Given the description of an element on the screen output the (x, y) to click on. 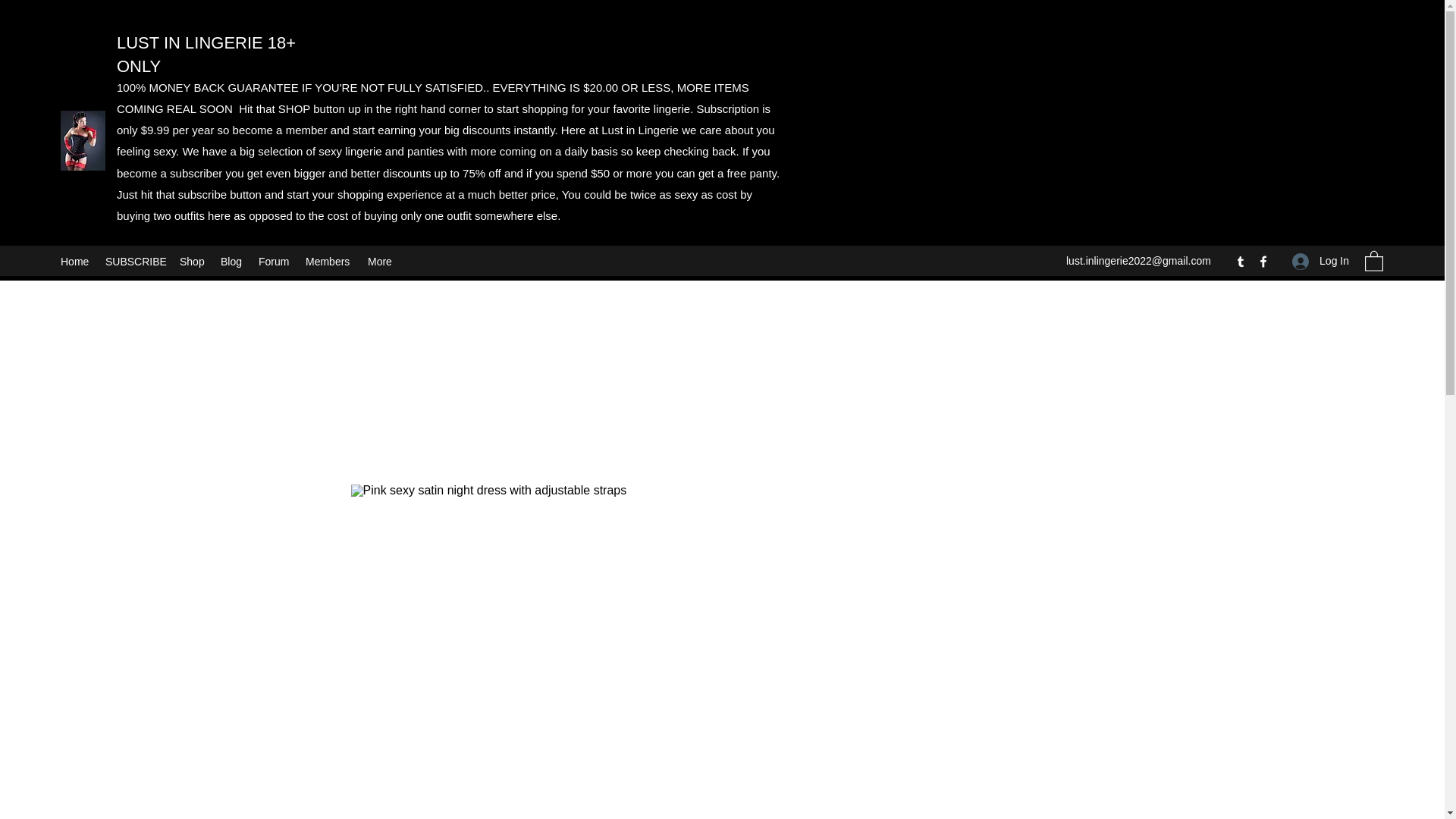
Forum (274, 261)
Shop (191, 261)
SUBSCRIBE (134, 261)
Blog (231, 261)
Home (74, 261)
Log In (1320, 261)
Members (328, 261)
